Given the description of an element on the screen output the (x, y) to click on. 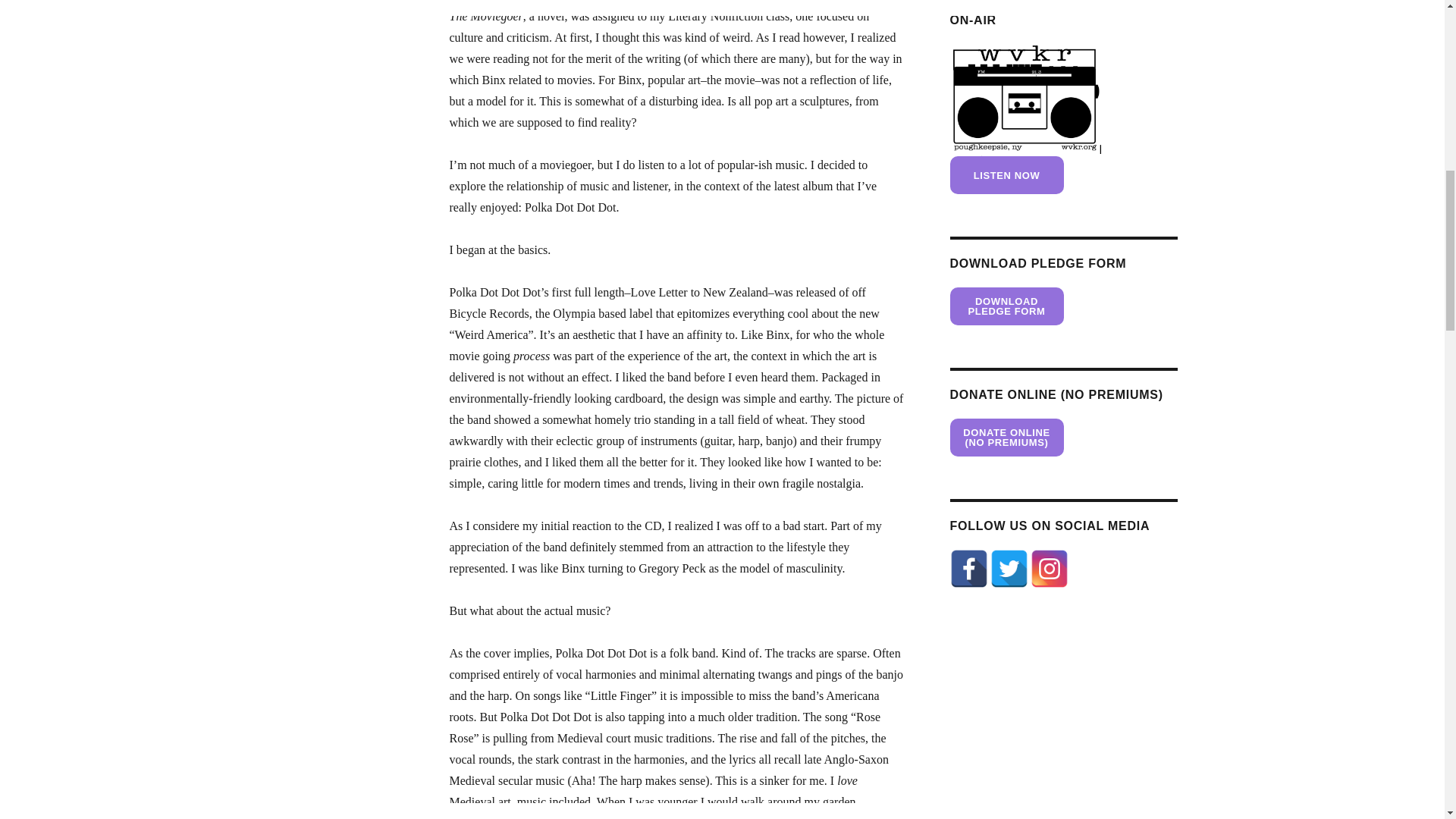
DOWNLOAD PLEDGE FORM (1005, 306)
Twitter (1008, 568)
LISTEN NOW (1005, 175)
Instagram (1049, 568)
Facebook (968, 568)
